Given the description of an element on the screen output the (x, y) to click on. 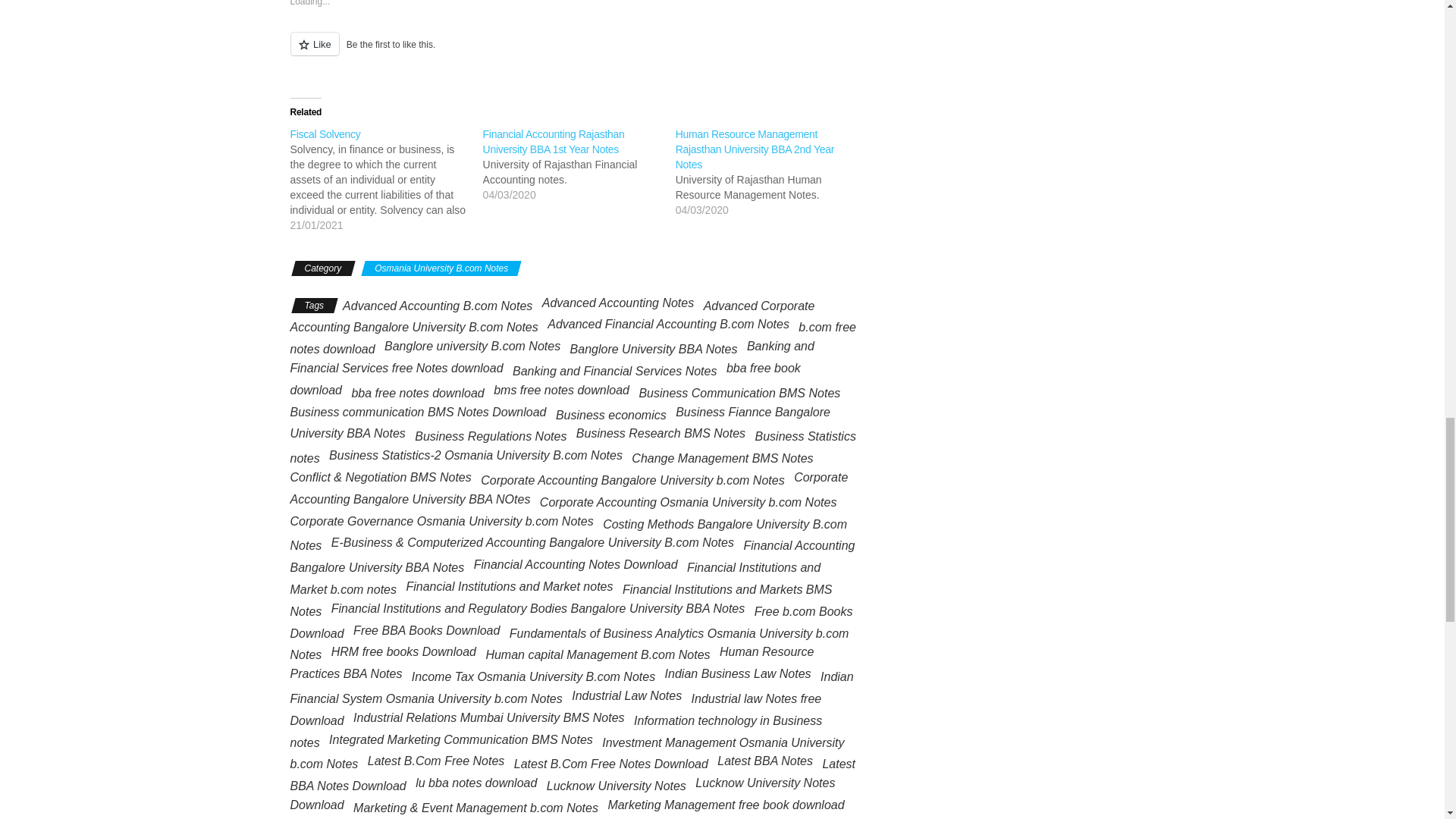
Osmania University B.com Notes (440, 268)
Advanced Accounting B.com Notes (437, 305)
Fiscal Solvency (324, 133)
Financial Accounting Rajasthan University BBA 1st Year Notes (553, 141)
